Given the description of an element on the screen output the (x, y) to click on. 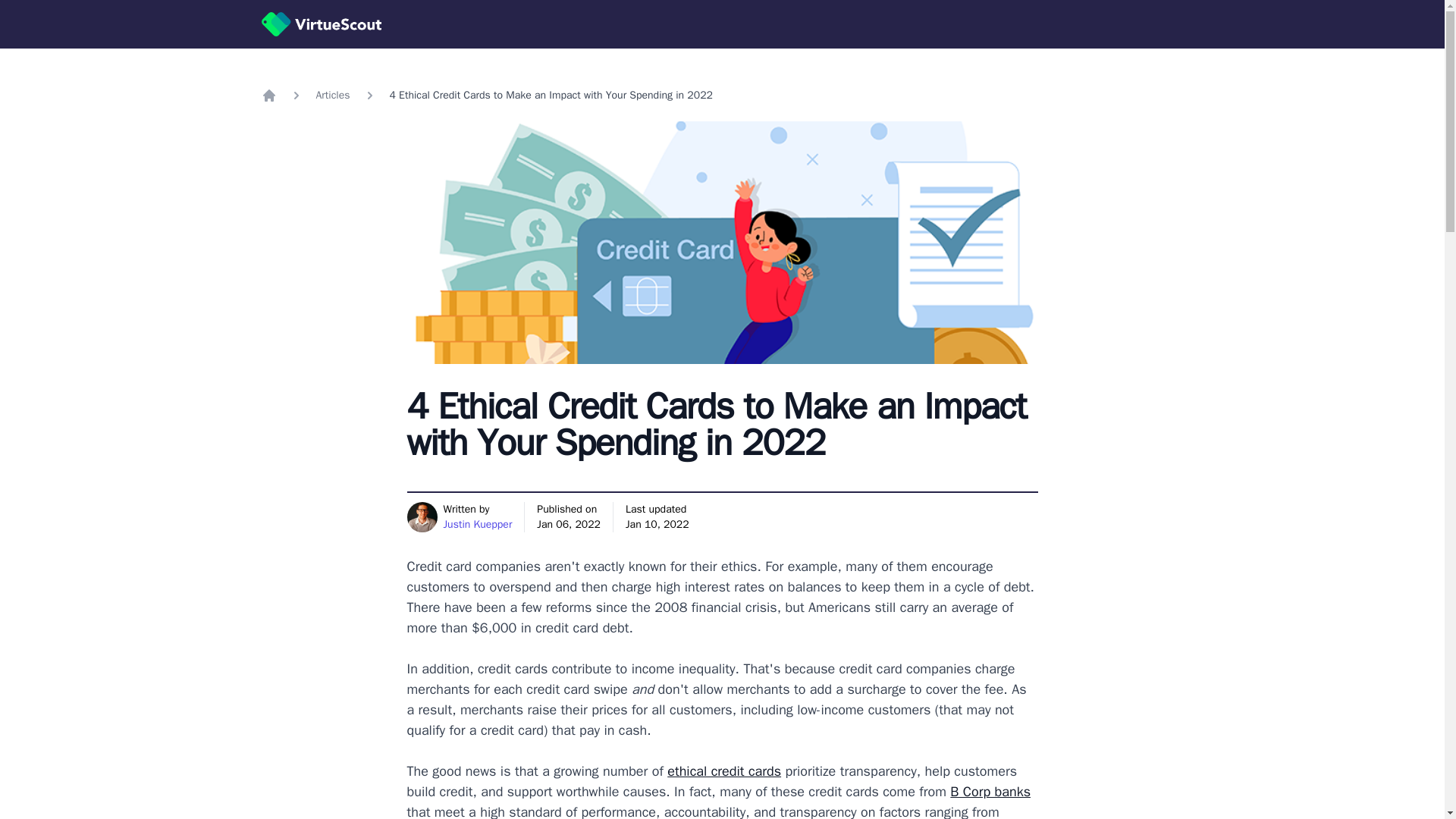
ethical credit cards (723, 770)
Articles (332, 95)
B Corp banks (990, 791)
Home (268, 95)
